Given the description of an element on the screen output the (x, y) to click on. 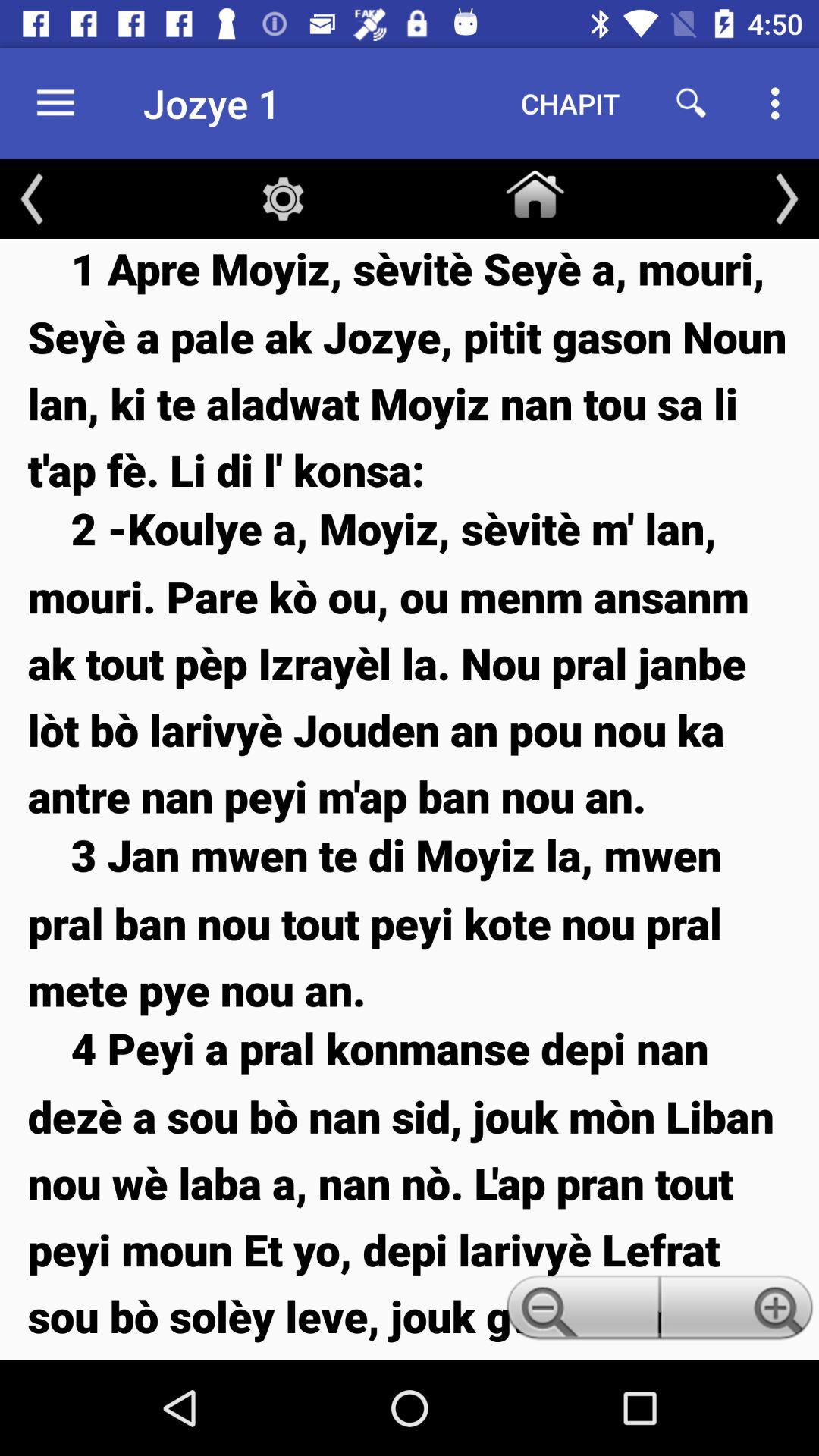
scroll until chapit item (570, 103)
